Given the description of an element on the screen output the (x, y) to click on. 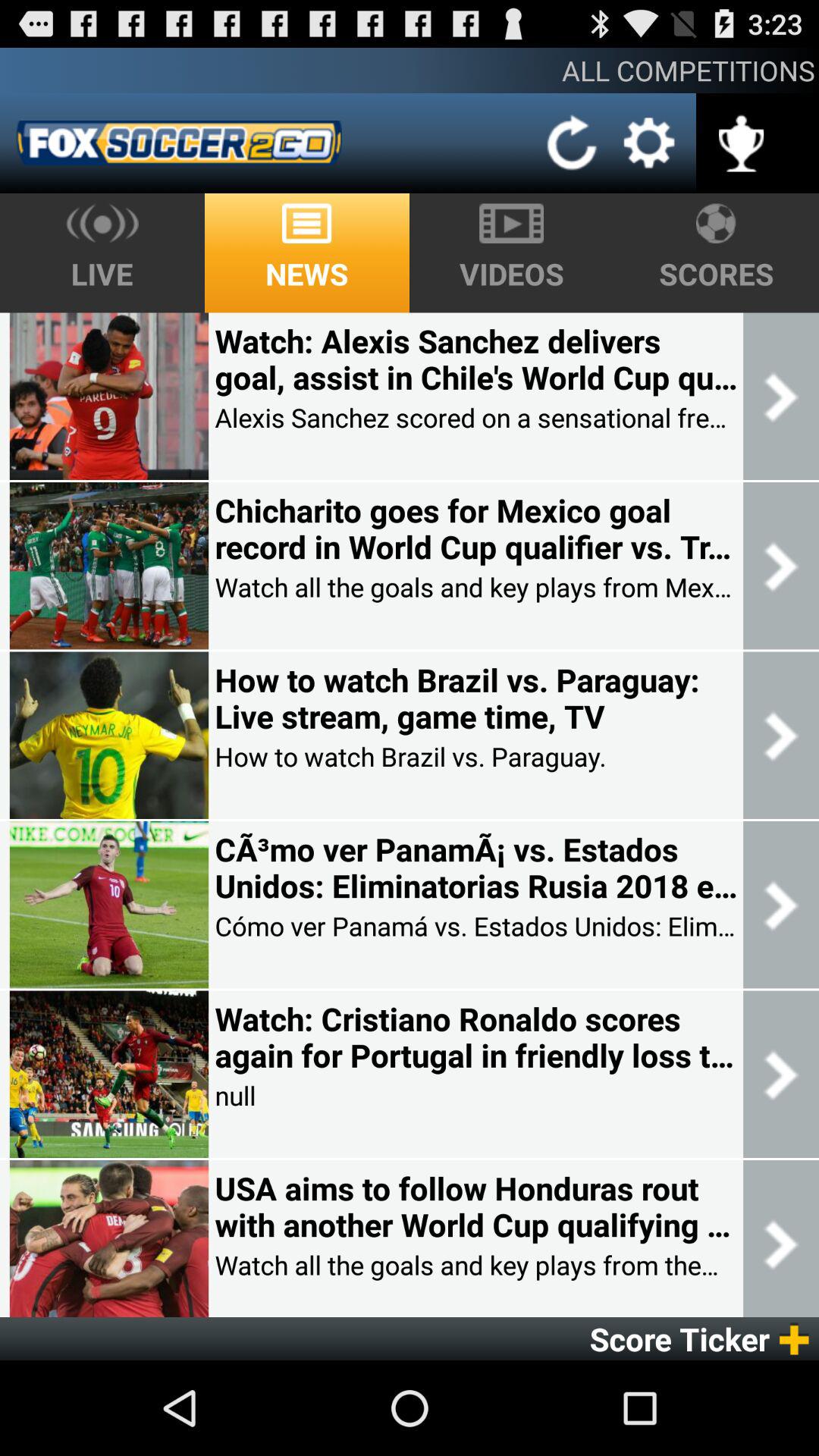
tap the item below the all competitions item (648, 142)
